Given the description of an element on the screen output the (x, y) to click on. 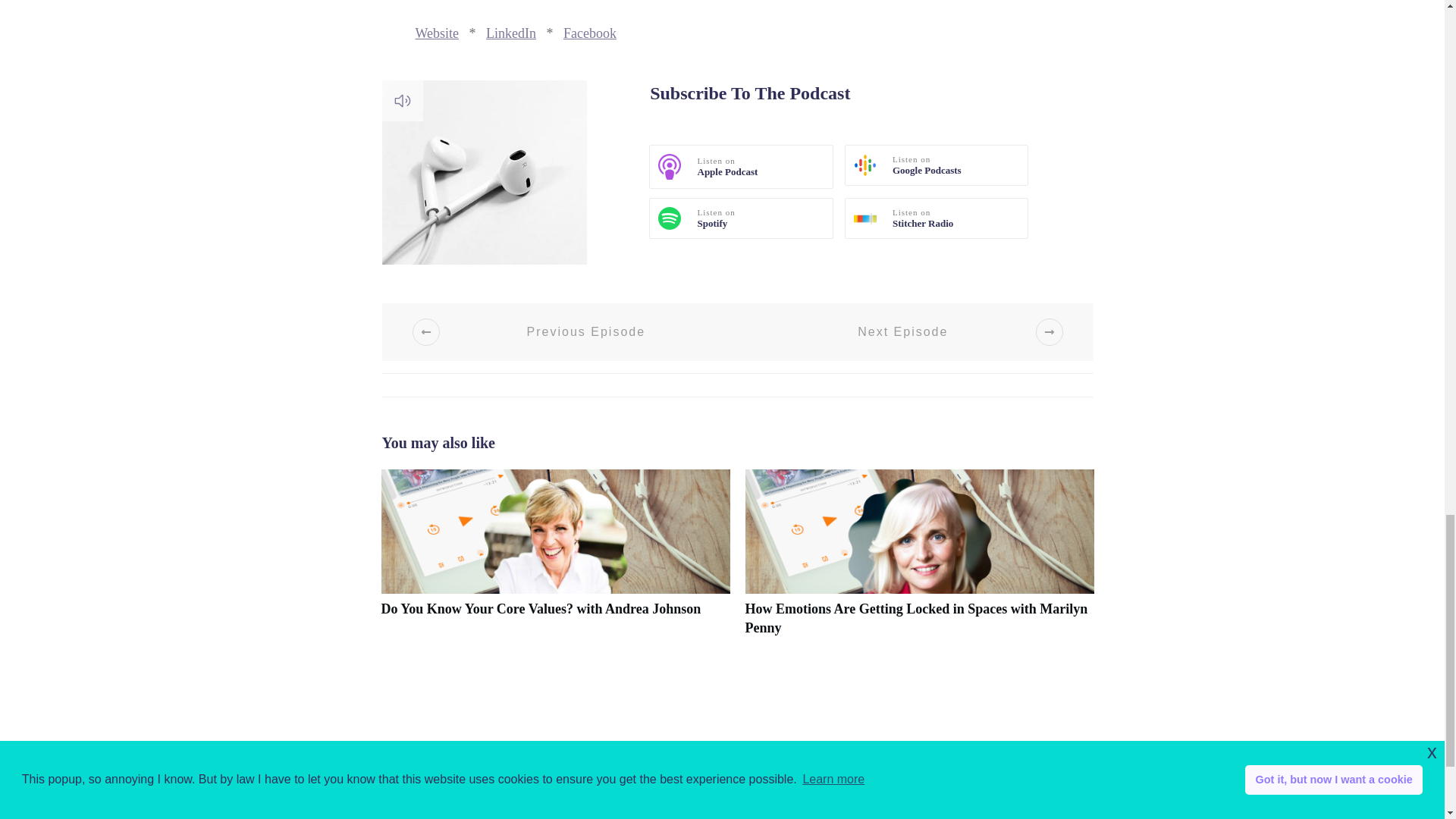
Do You Know Your Core Values? with Andrea Johnson (540, 608)
Previous Episode (566, 332)
GPodcastLogo-Symbol (864, 164)
LinkedIn (510, 32)
Website (437, 32)
Next Episode (922, 332)
How Emotions Are Getting Locked in Spaces with Marilyn Penny (915, 618)
Do You Know Your Core Values? with Andrea Johnson (554, 560)
stitcher-68 (864, 218)
Facebook (589, 32)
How Emotions Are Getting Locked in Spaces with Marilyn Penny (918, 560)
Do You Know Your Core Values? with Andrea Johnson (540, 608)
How Emotions Are Getting Locked in Spaces with Marilyn Penny (915, 618)
Spotify-Logo-Symbol (669, 218)
